Given the description of an element on the screen output the (x, y) to click on. 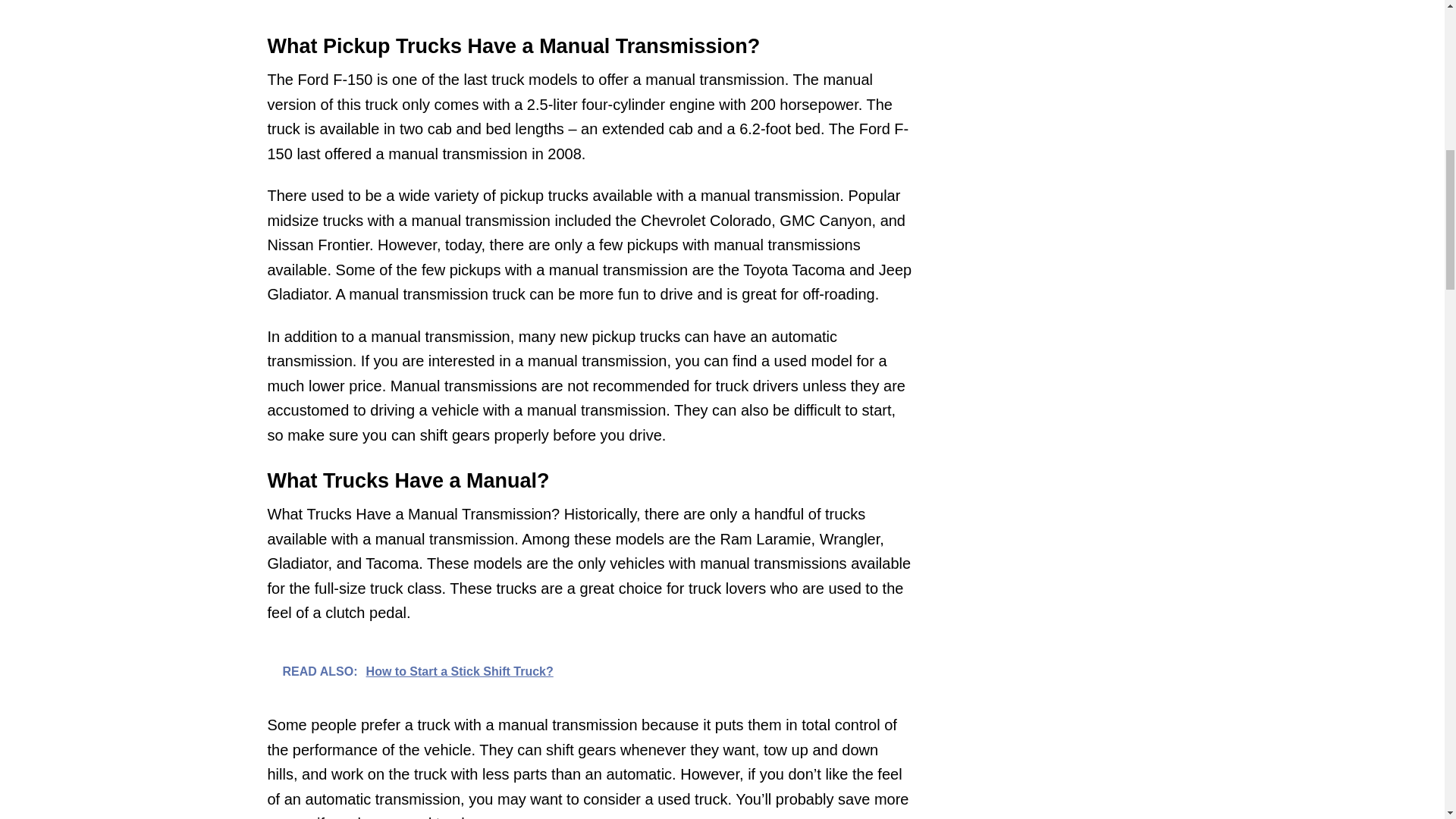
READ ALSO:  How to Start a Stick Shift Truck? (588, 670)
